Given the description of an element on the screen output the (x, y) to click on. 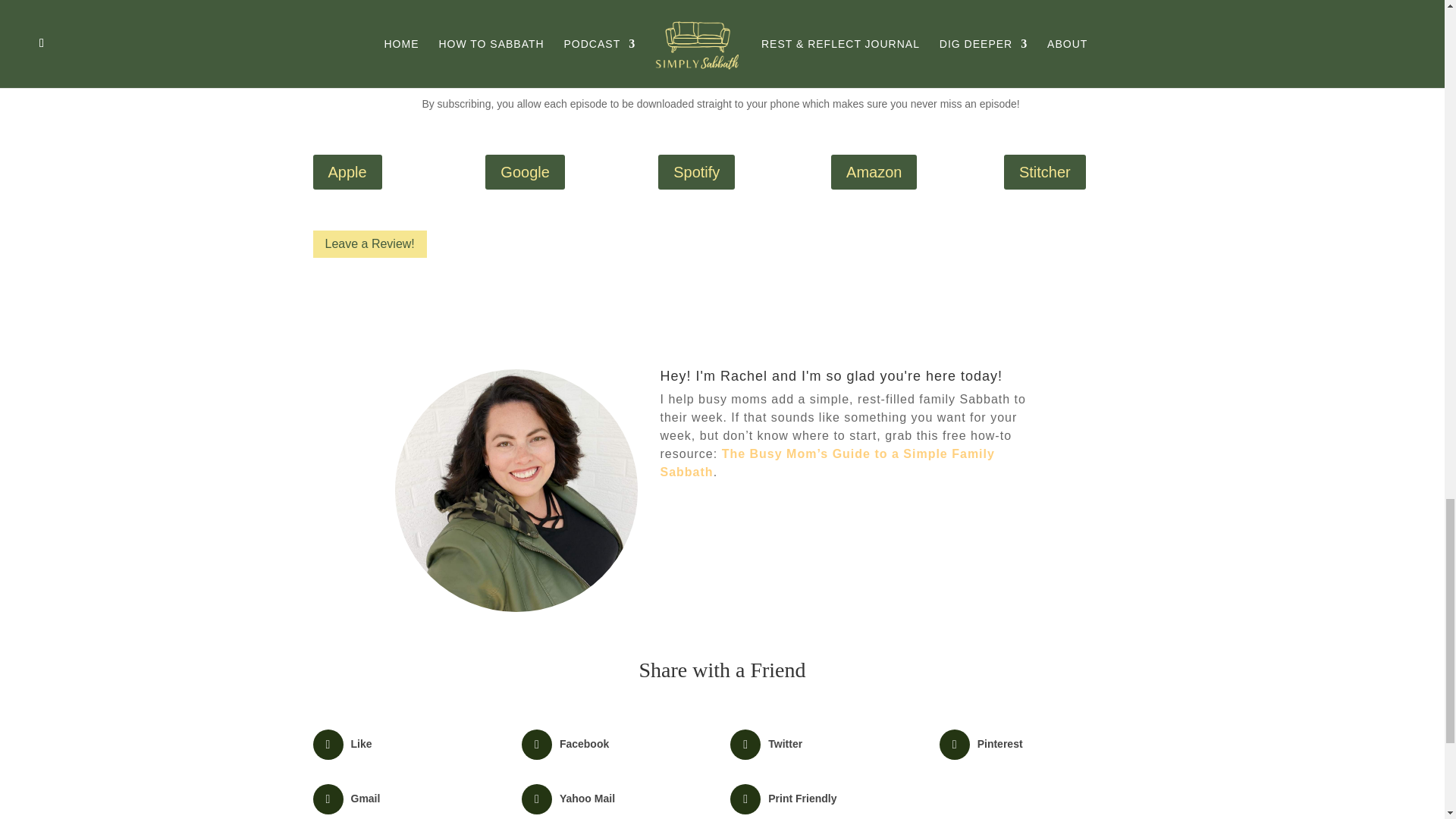
Website (337, 12)
Apple (347, 171)
